Given the description of an element on the screen output the (x, y) to click on. 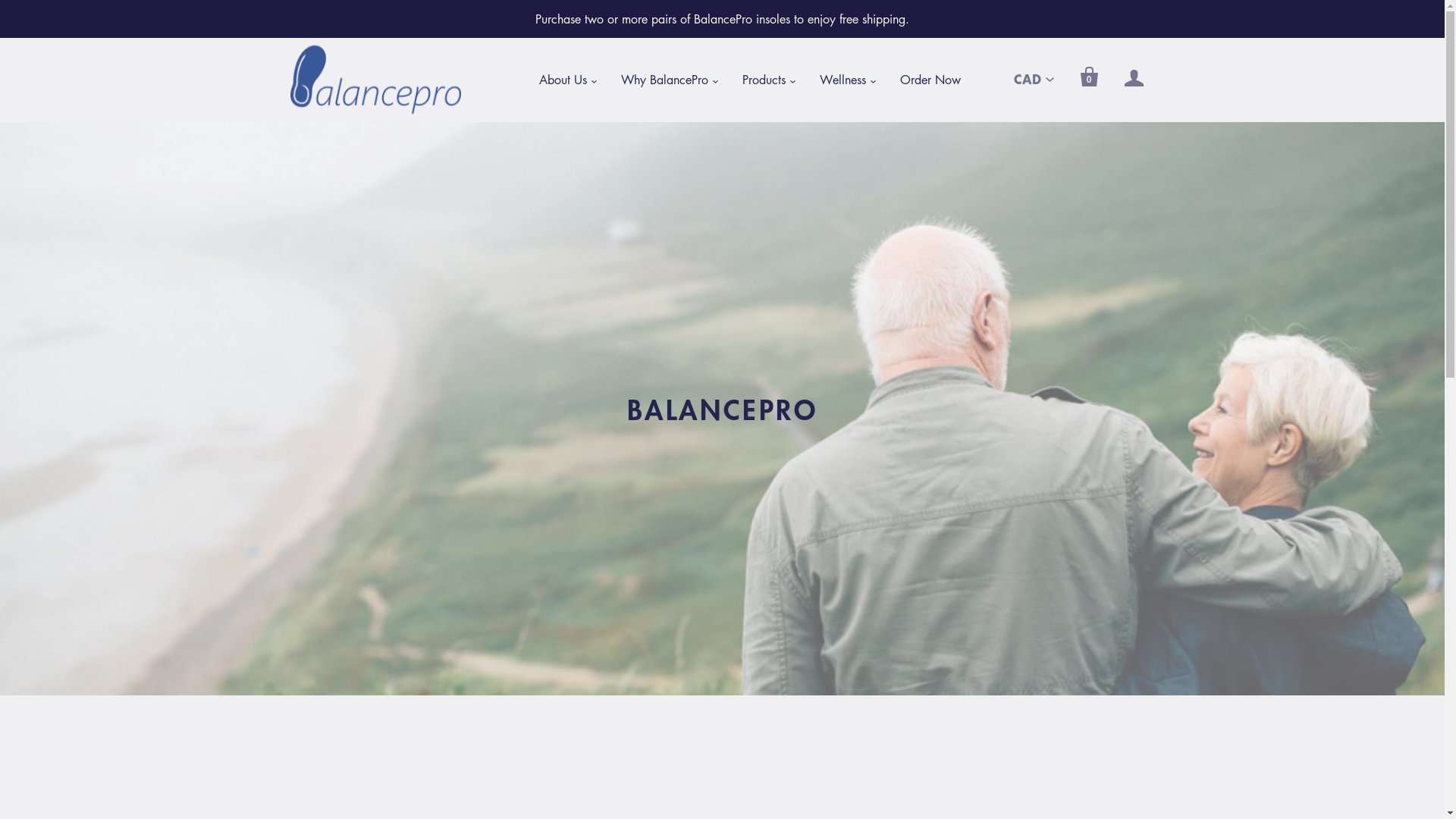
Products Element type: text (763, 79)
Why BalancePro Element type: text (663, 79)
About Us Element type: text (562, 79)
Order Now Element type: text (929, 79)
Wellness Element type: text (841, 79)
